Given the description of an element on the screen output the (x, y) to click on. 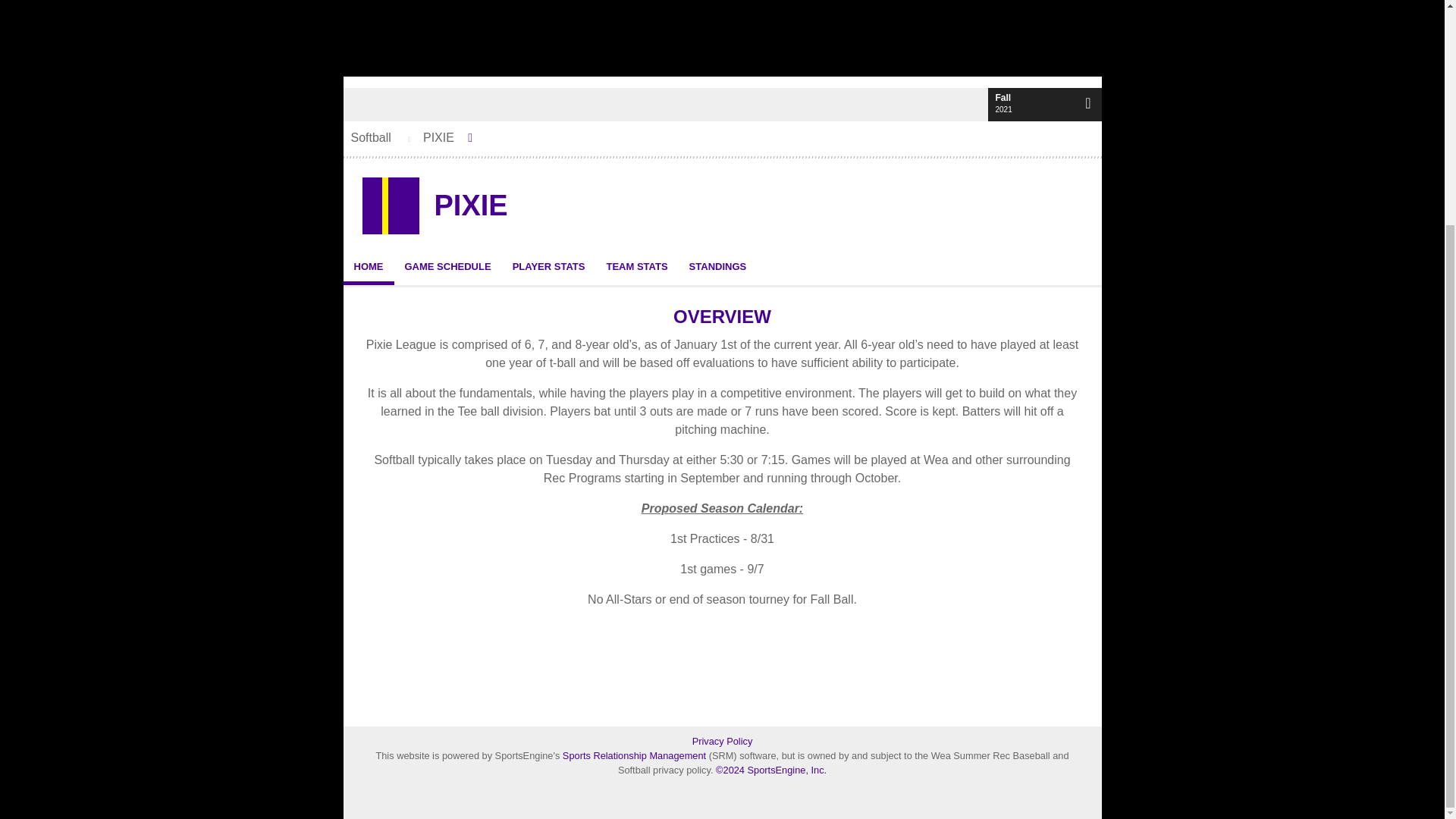
TEAM STATS (636, 266)
GAME SCHEDULE (448, 266)
STANDINGS (717, 266)
PIXIE (442, 137)
PLAYER STATS (548, 266)
PIXIE (469, 206)
Privacy Policy (722, 740)
Softball (369, 137)
HOME (367, 266)
Sports Relationship Management (635, 755)
